Given the description of an element on the screen output the (x, y) to click on. 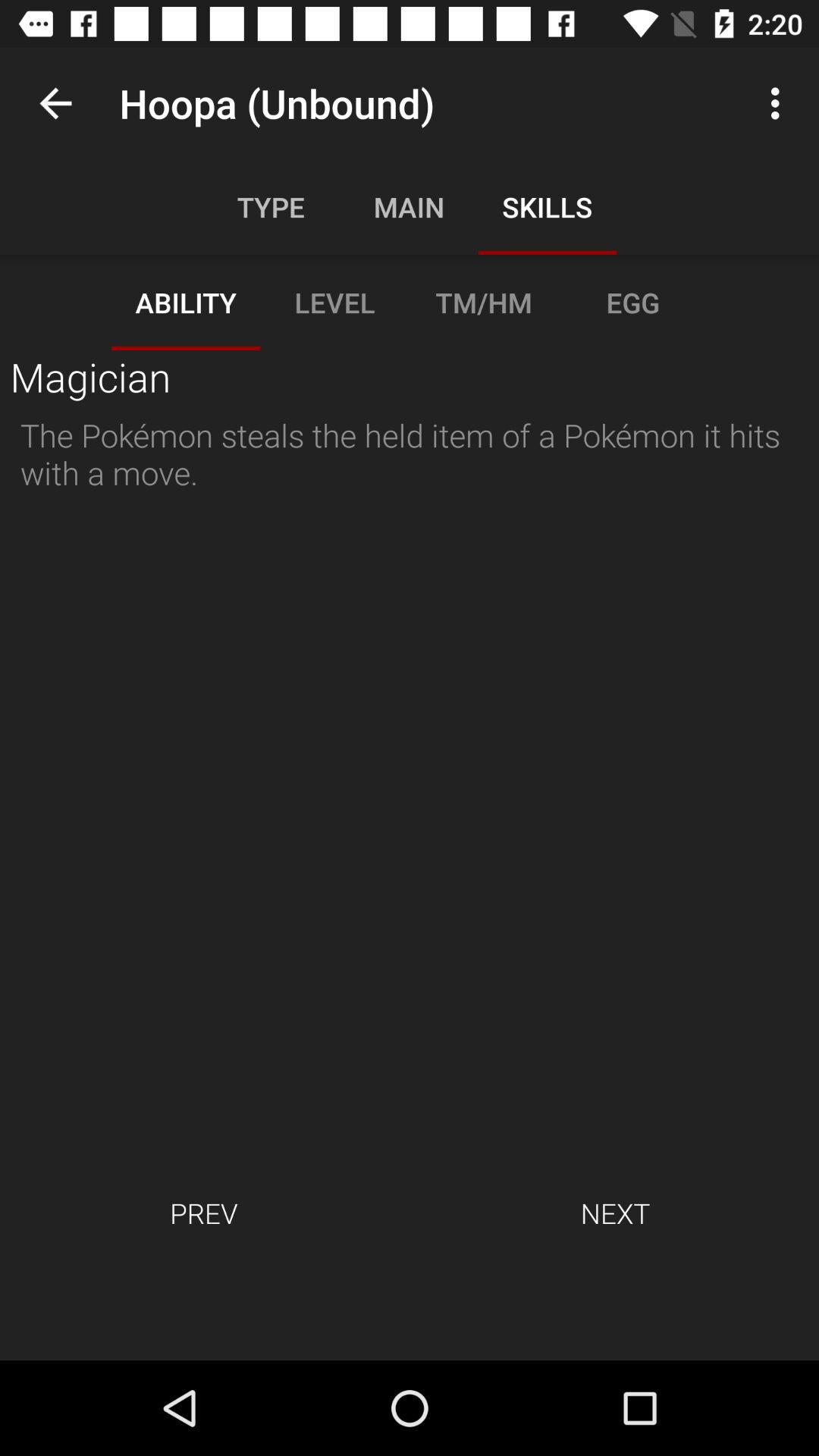
turn on the icon next to prev icon (615, 1212)
